Given the description of an element on the screen output the (x, y) to click on. 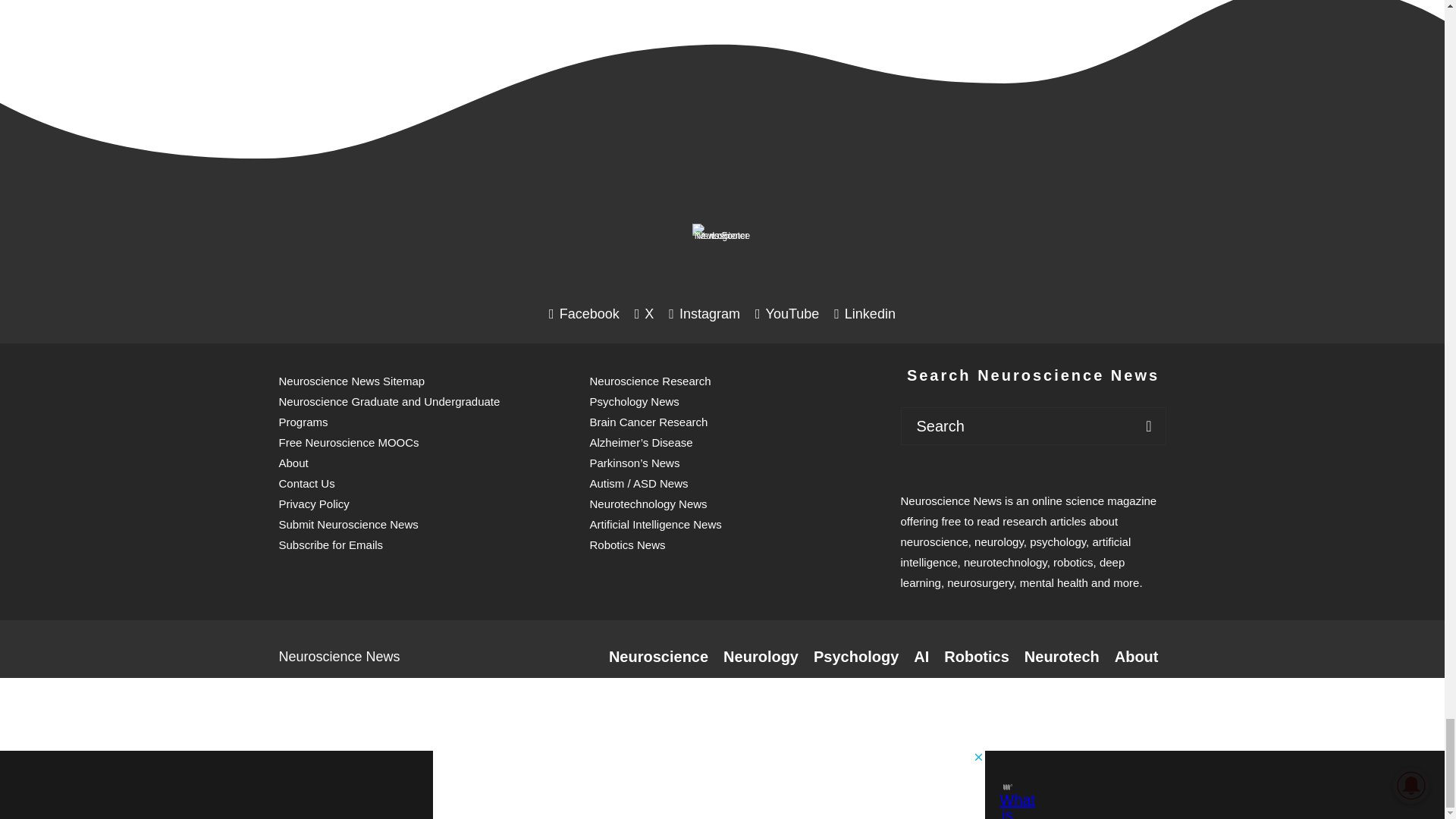
Neurology Research Articles (760, 656)
Neuroscience Research (657, 656)
Psychology Research Articles (855, 656)
